Given the description of an element on the screen output the (x, y) to click on. 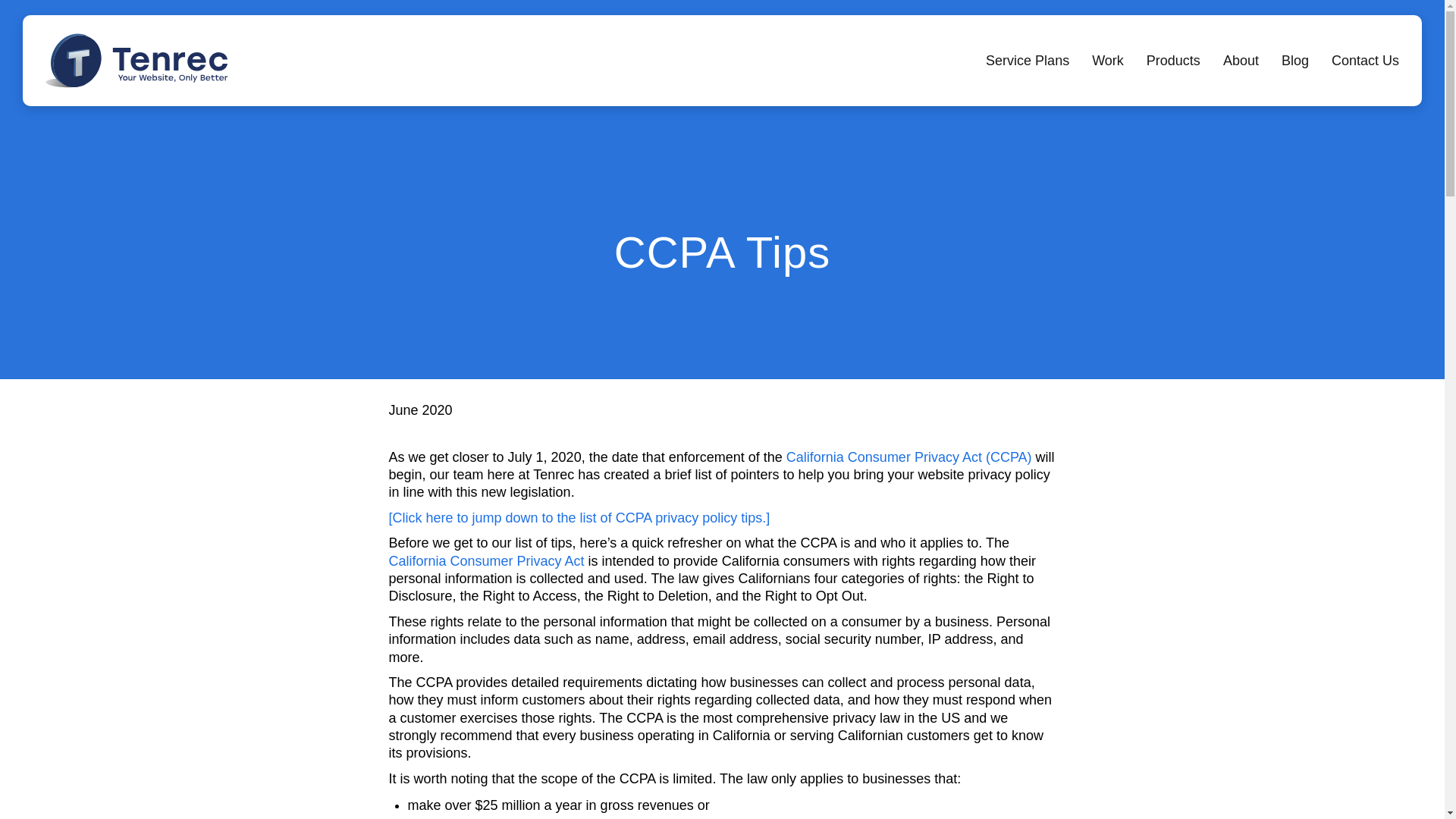
Contact Us (1365, 61)
Work (1108, 61)
Blog (1294, 61)
Service Plans (1026, 61)
Products (1173, 61)
About (1241, 61)
California Consumer Privacy Act (485, 560)
